Given the description of an element on the screen output the (x, y) to click on. 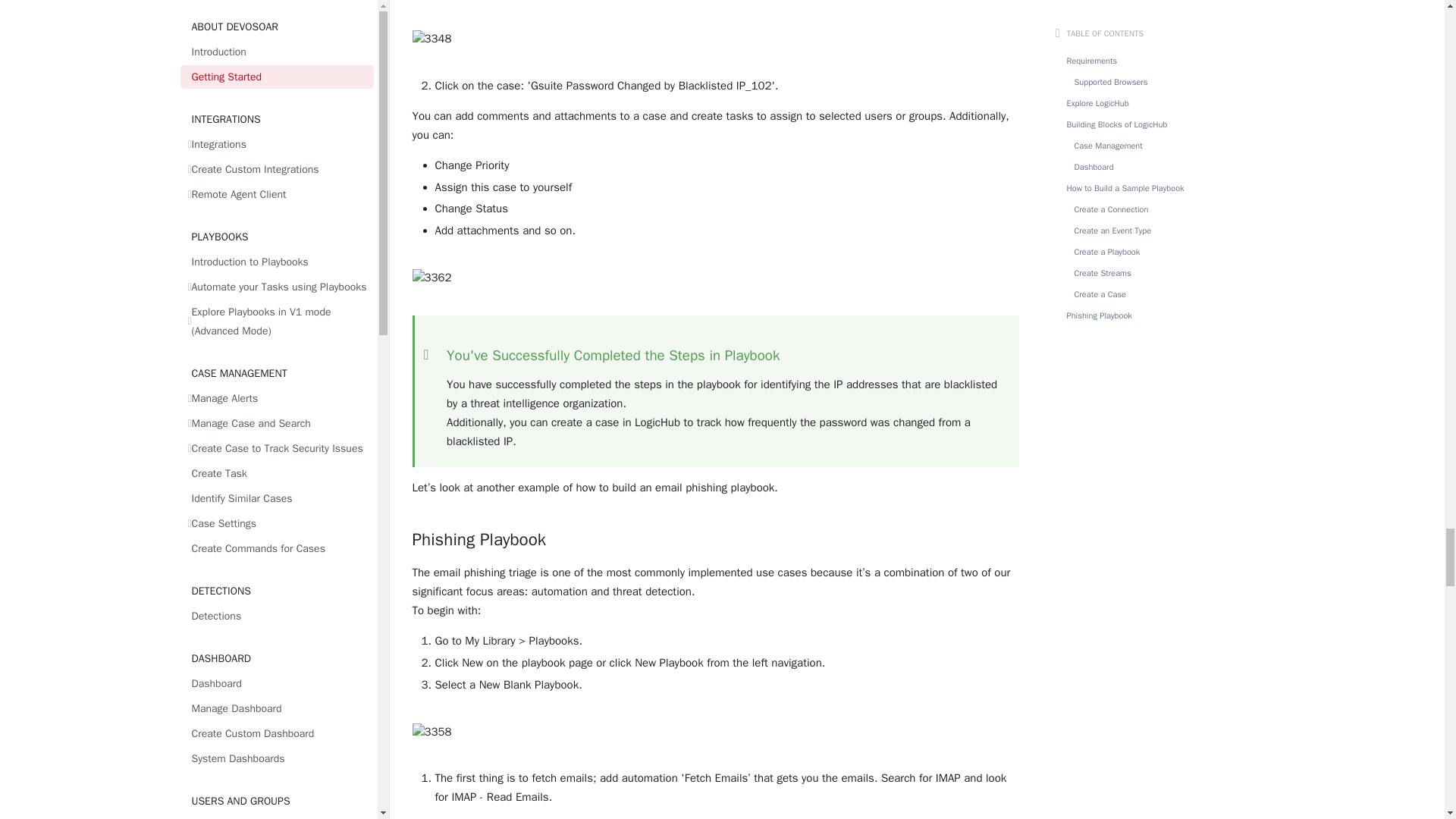
Case-Opened.png (715, 277)
Phishing Playbook (715, 533)
Cases.png (715, 39)
